Given the description of an element on the screen output the (x, y) to click on. 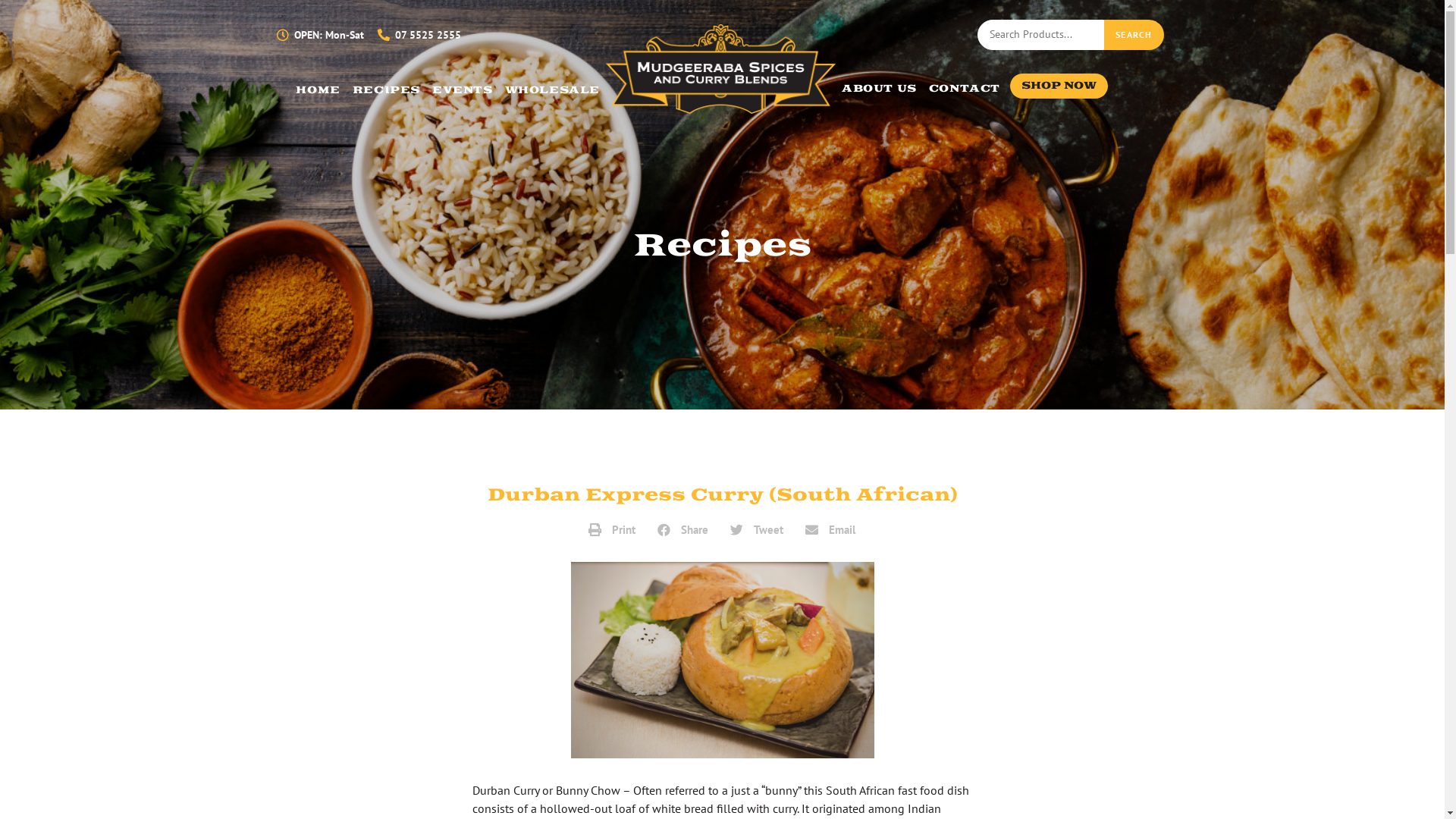
WHOLESALE Element type: text (551, 86)
CONTACT Element type: text (964, 85)
HOME Element type: text (317, 86)
RECIPES Element type: text (386, 86)
SHOP NOW Element type: text (1058, 85)
ABOUT US Element type: text (878, 85)
EVENTS Element type: text (462, 86)
Search Element type: text (1133, 34)
